Given the description of an element on the screen output the (x, y) to click on. 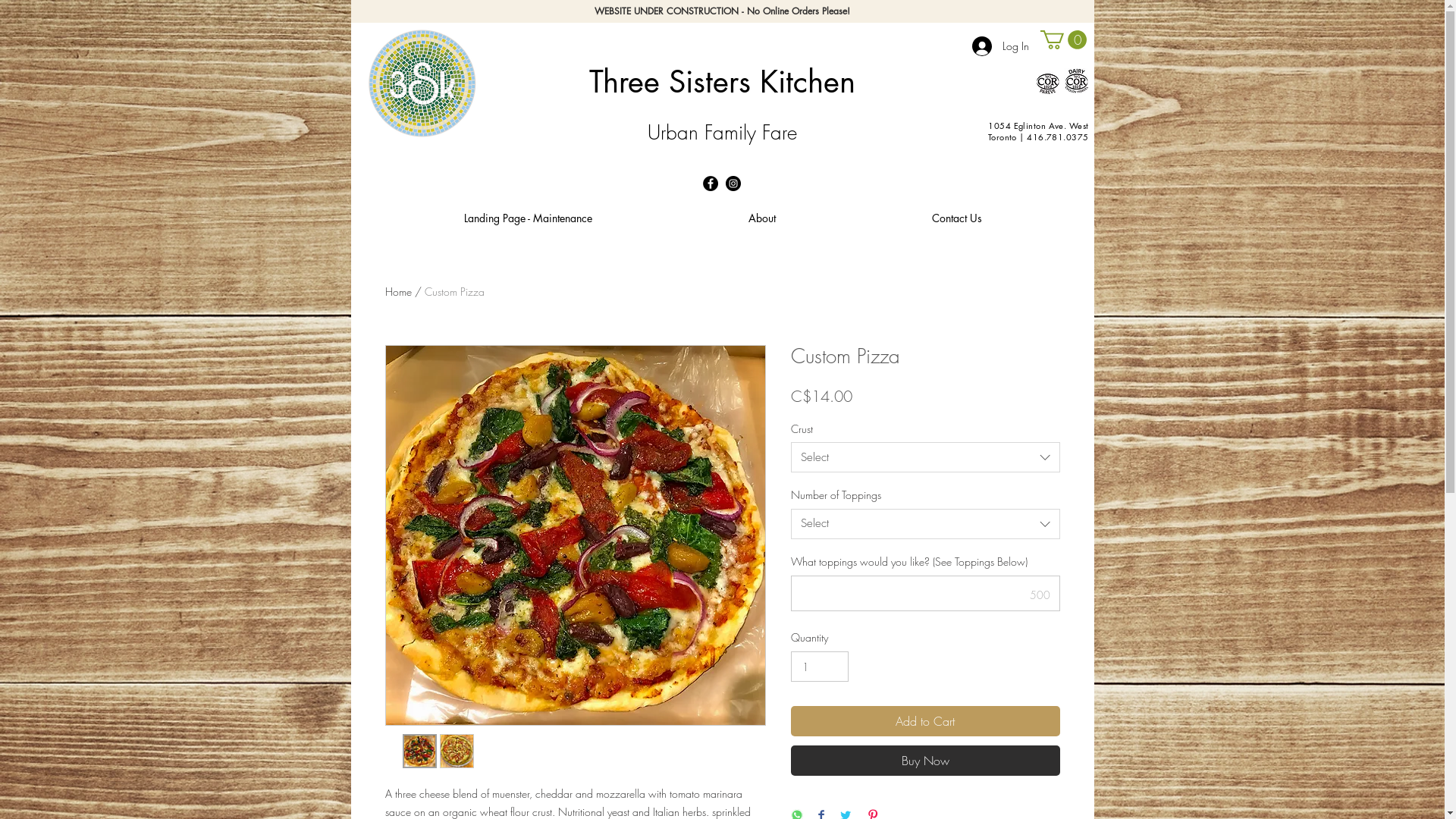
Landing Page - Maintenance Element type: text (527, 217)
Contact Us Element type: text (956, 217)
Landing Page - Maintenance Element type: text (448, 291)
Select Element type: text (924, 457)
Add to Cart Element type: text (924, 721)
Select Element type: text (924, 523)
0 Element type: text (1063, 39)
3SK 1023 Pareve.jpg Element type: hover (1046, 81)
Buy Now Element type: text (924, 760)
Log In Element type: text (1000, 45)
